Given the description of an element on the screen output the (x, y) to click on. 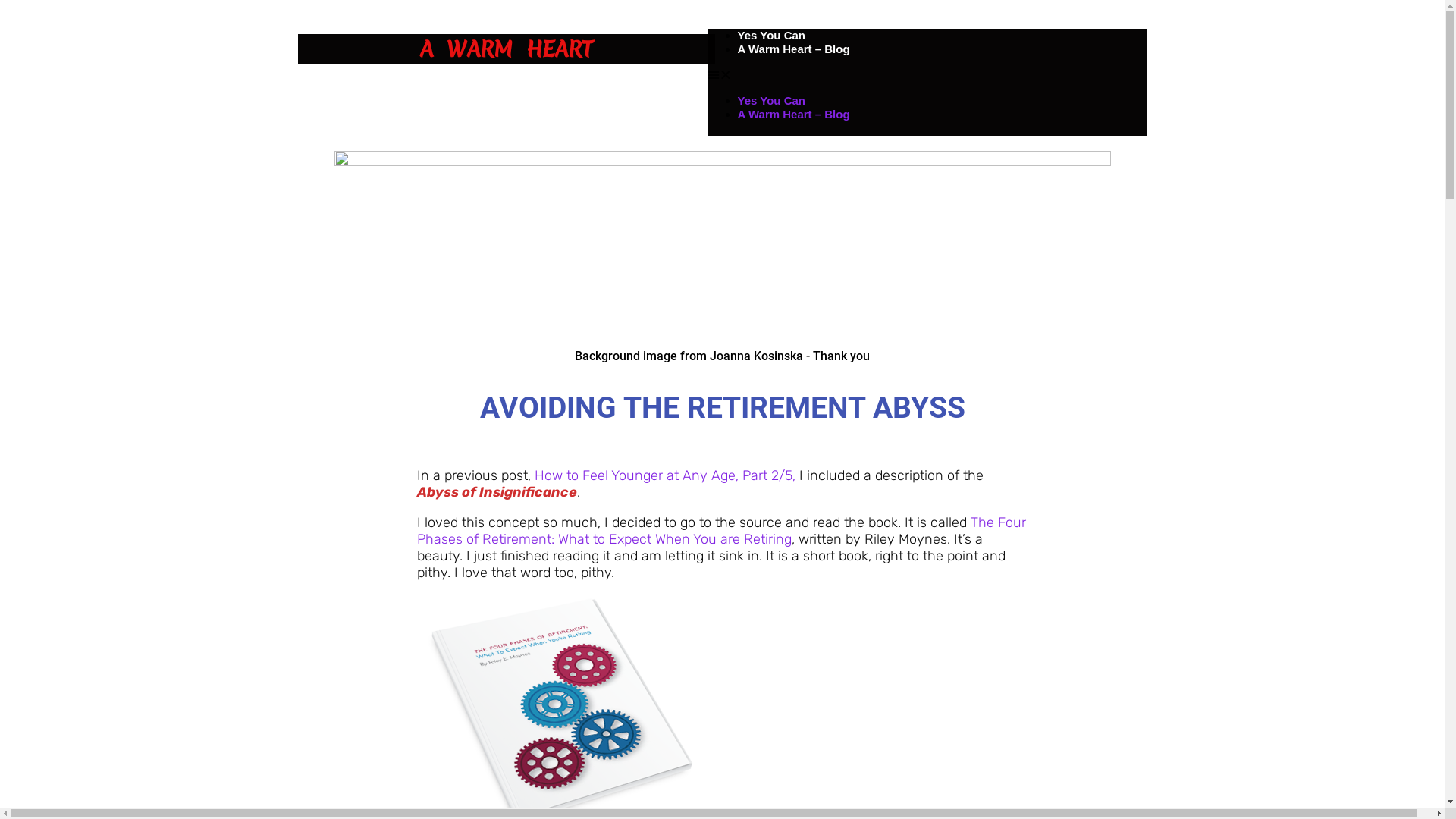
Yes You Can Element type: text (770, 34)
How to Feel Younger at Any Age, Part 2/5, Element type: text (663, 475)
Yes You Can Element type: text (770, 100)
